Given the description of an element on the screen output the (x, y) to click on. 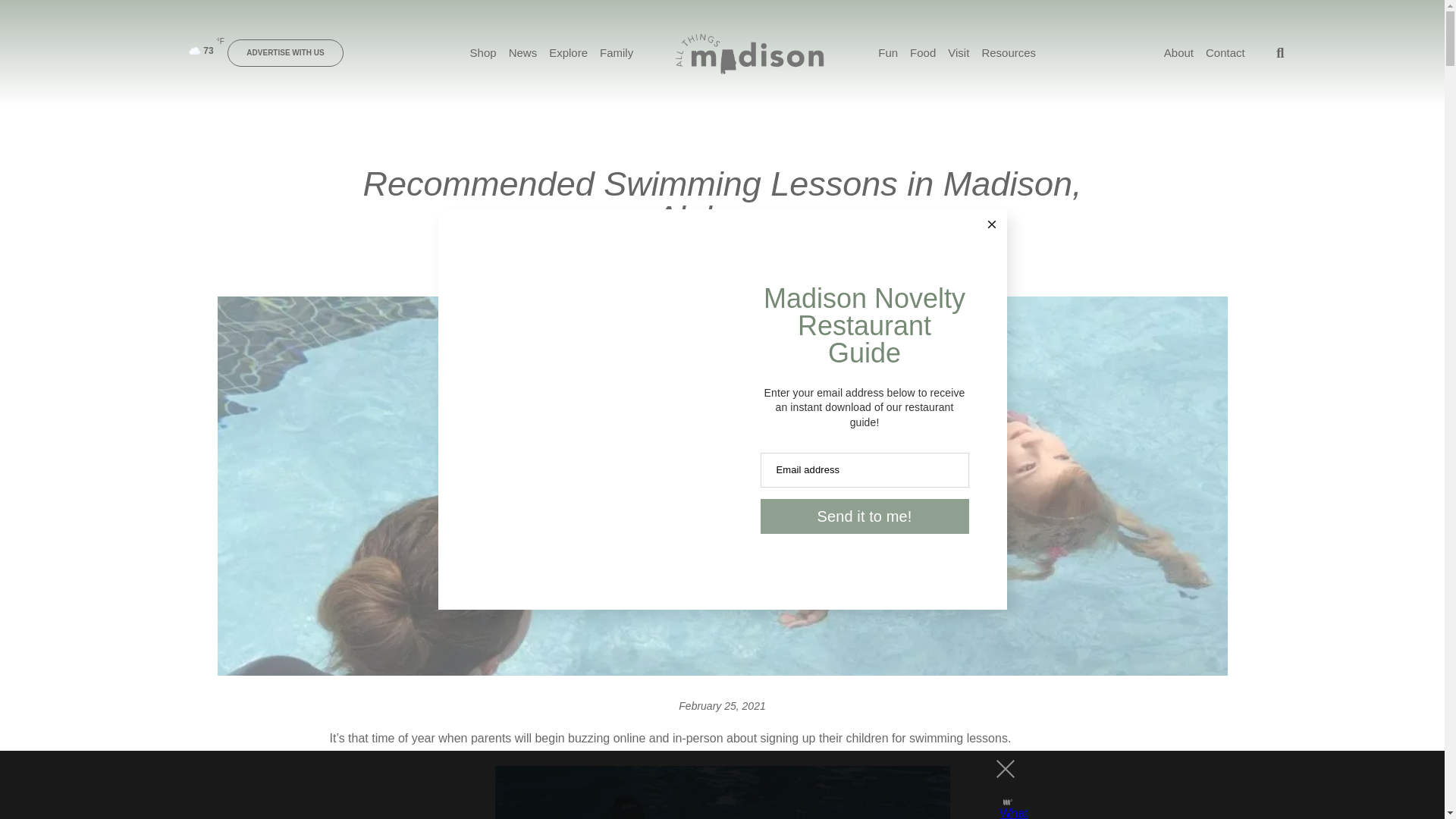
Family (616, 53)
Contact (1224, 53)
Family (715, 272)
ADVERTISE WITH US (284, 52)
Visit (958, 53)
Fun (887, 53)
About (1178, 53)
Food (923, 53)
Logo-1-1.png (749, 52)
Explore (568, 53)
Resources (761, 272)
News (522, 53)
Shop (483, 53)
Explore (675, 272)
Resources (1008, 53)
